Given the description of an element on the screen output the (x, y) to click on. 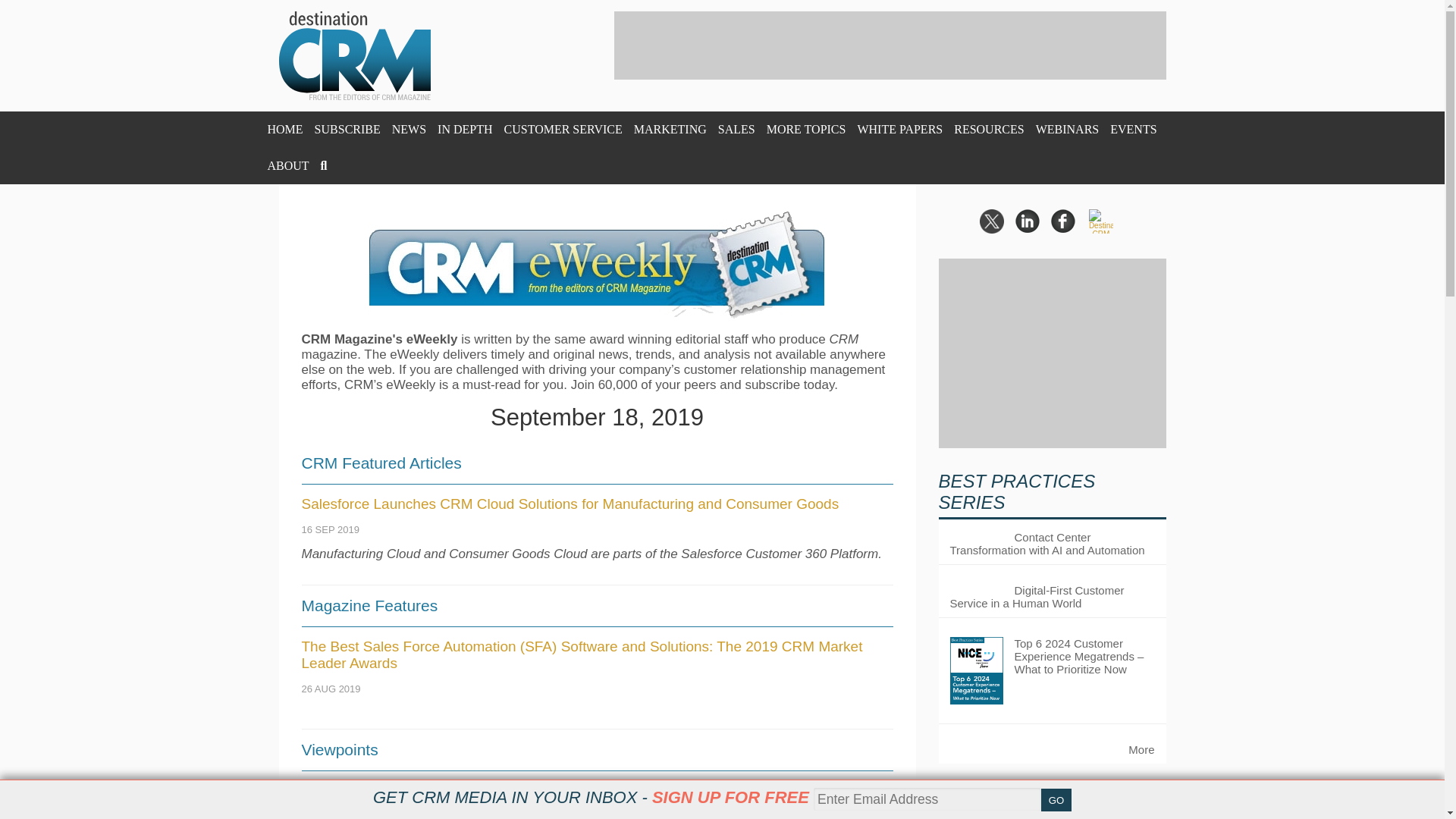
CUSTOMER SERVICE (563, 129)
Customer Service (563, 129)
SALES (736, 129)
NEWS (408, 129)
RESOURCES (988, 129)
Sales (736, 129)
MORE TOPICS (806, 129)
Marketing (669, 129)
GO (1056, 799)
MARKETING (669, 129)
